Given the description of an element on the screen output the (x, y) to click on. 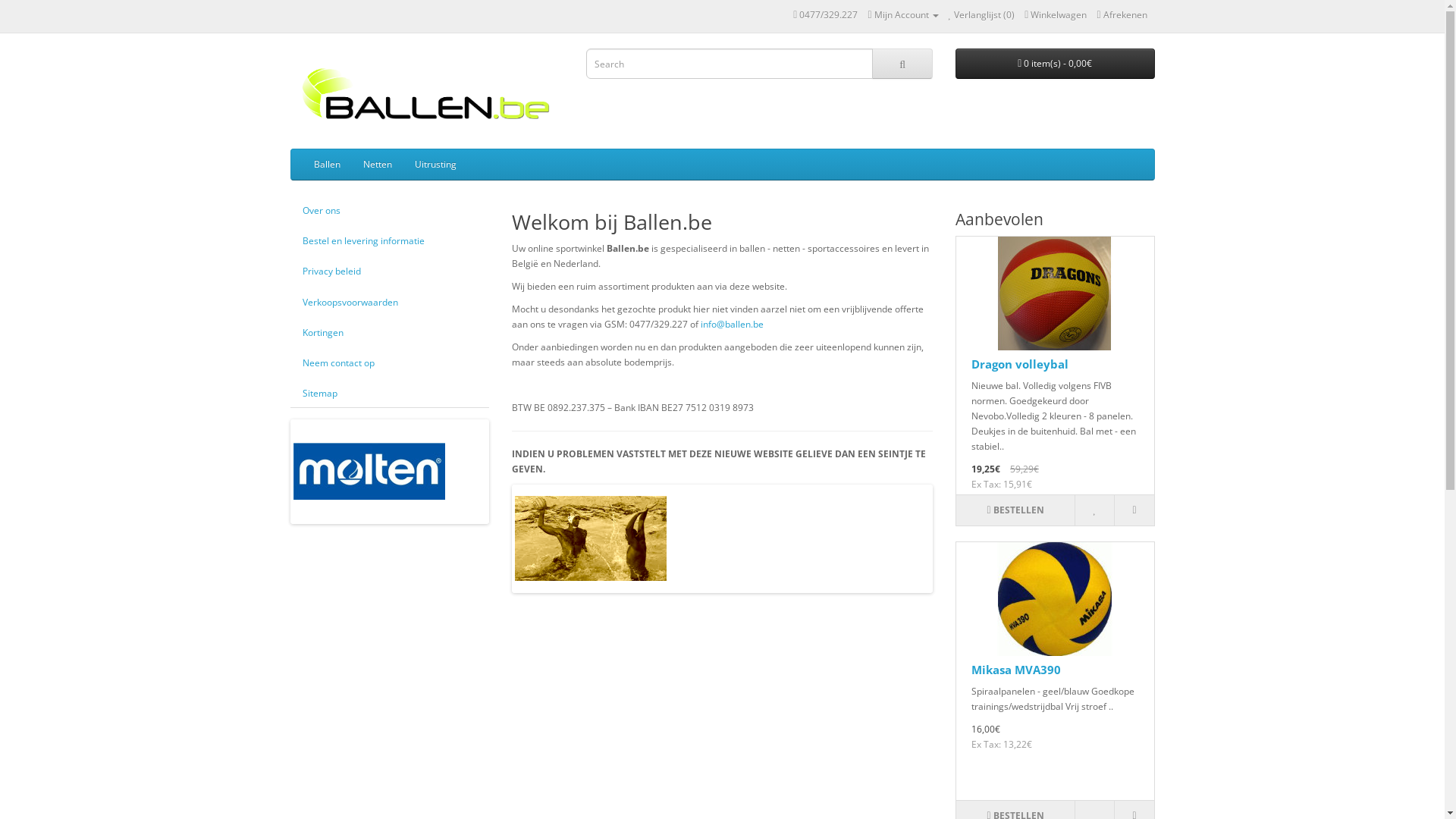
Winkelwagen Element type: text (1055, 14)
Neem contact op Element type: text (388, 362)
Over ons Element type: text (388, 210)
Netten Element type: text (377, 164)
Dragon volleybal Element type: text (1019, 363)
Bestel en levering informatie Element type: text (388, 240)
Mikasa MVA390 Element type: hover (1054, 598)
Afrekenen Element type: text (1121, 14)
Verlanglijst (0) Element type: text (981, 14)
Privacy beleid Element type: text (388, 270)
BESTELLEN Element type: text (1015, 510)
Kortingen Element type: text (388, 332)
Verkoopsvoorwaarden Element type: text (388, 301)
Dragon volleybal Element type: hover (1054, 293)
Mijn Account Element type: text (902, 14)
Sitemap Element type: text (388, 392)
Uitrusting Element type: text (435, 164)
Mikasa MVA390 Element type: text (1015, 669)
Ballen.be Element type: hover (425, 94)
Ballen Element type: text (326, 164)
info@ballen.be Element type: text (731, 323)
